Given the description of an element on the screen output the (x, y) to click on. 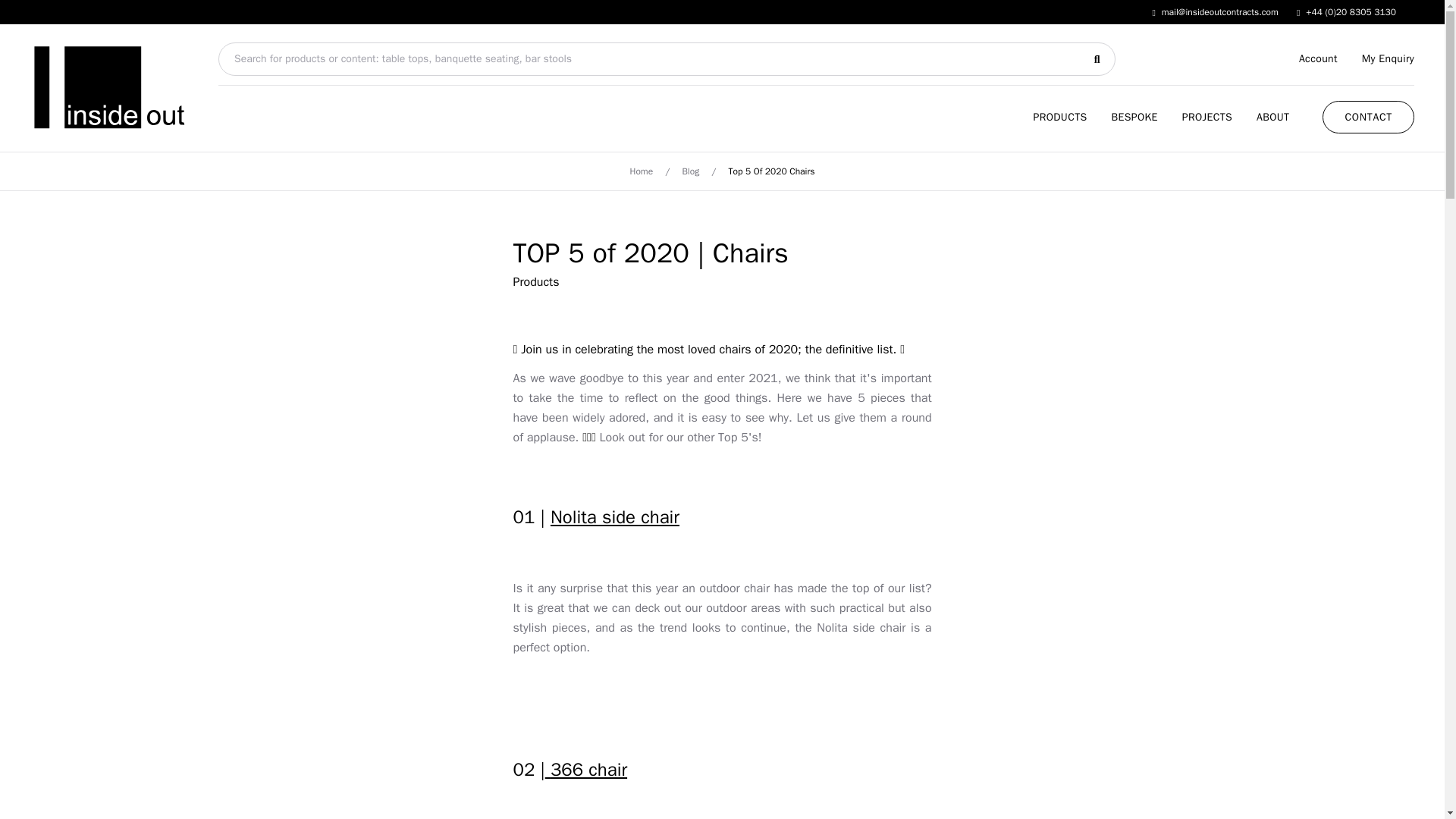
PRODUCTS (1059, 116)
CONTACT (1367, 115)
ABOUT (1272, 116)
My Enquiry (1387, 58)
Account (1318, 58)
PROJECTS (1206, 116)
BESPOKE (1134, 116)
